Given the description of an element on the screen output the (x, y) to click on. 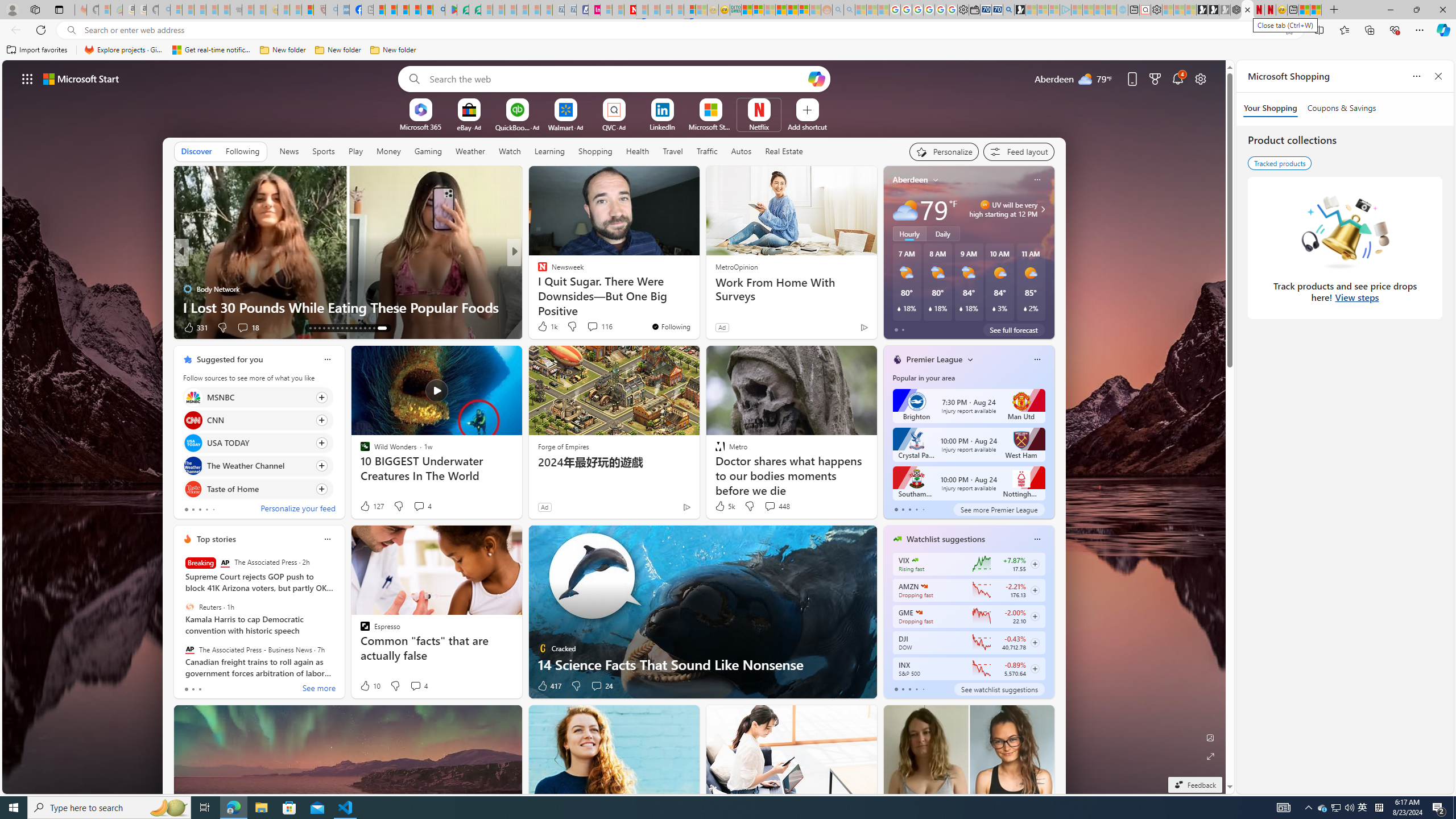
AutomationID: tab-23 (355, 328)
See full forecast (1013, 329)
AMAZON.COM, INC. (923, 586)
Daily (942, 233)
Taste of Home (192, 488)
AutomationID: tab-16 (323, 328)
previous (888, 252)
